Given the description of an element on the screen output the (x, y) to click on. 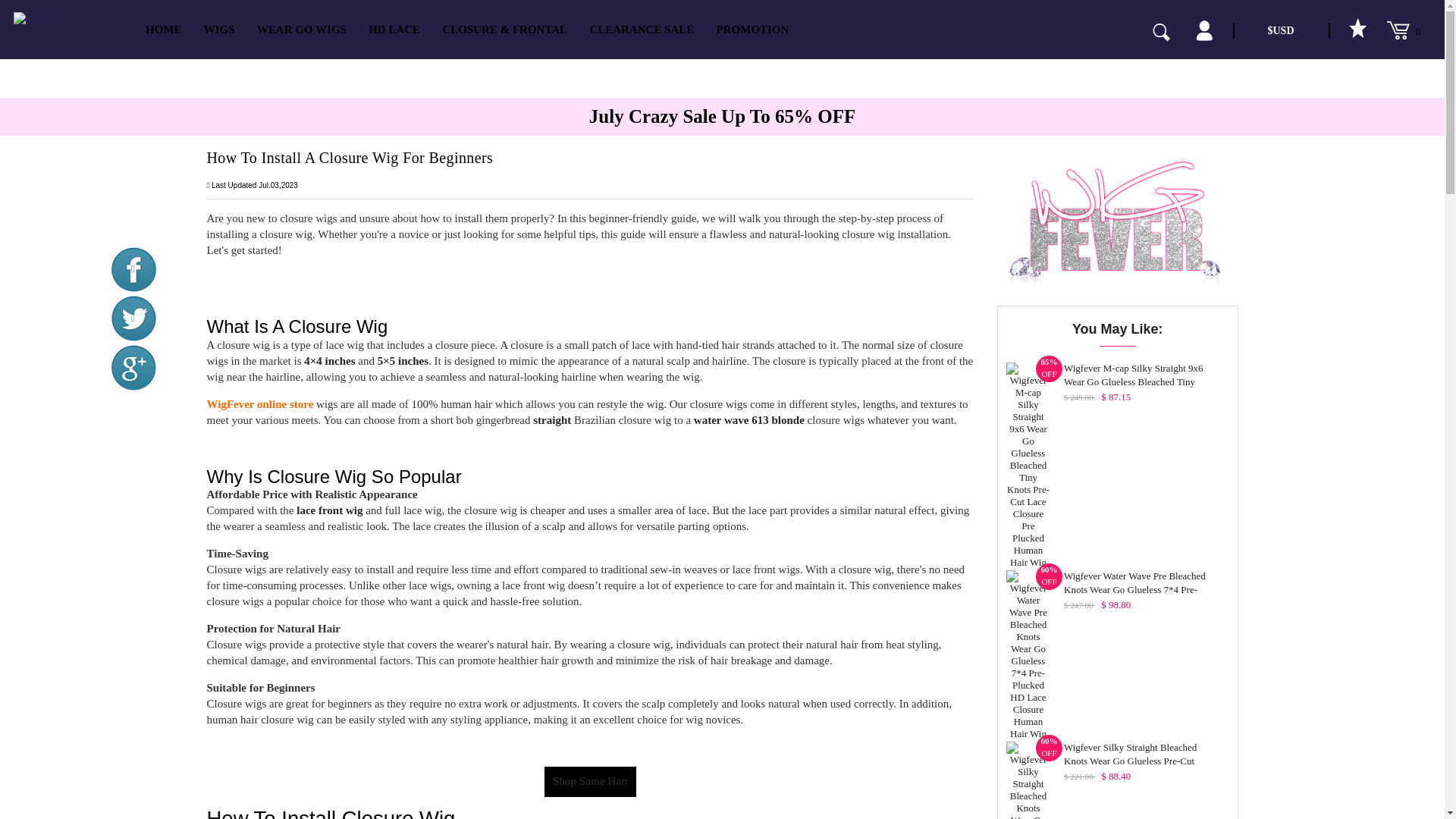
HOME (163, 29)
Learn More (522, 21)
0 (1403, 30)
Share on Facebook (132, 268)
Share on Twitter (132, 318)
View Bag (1403, 30)
My Account (1204, 30)
Wishlist (1357, 28)
